Given the description of an element on the screen output the (x, y) to click on. 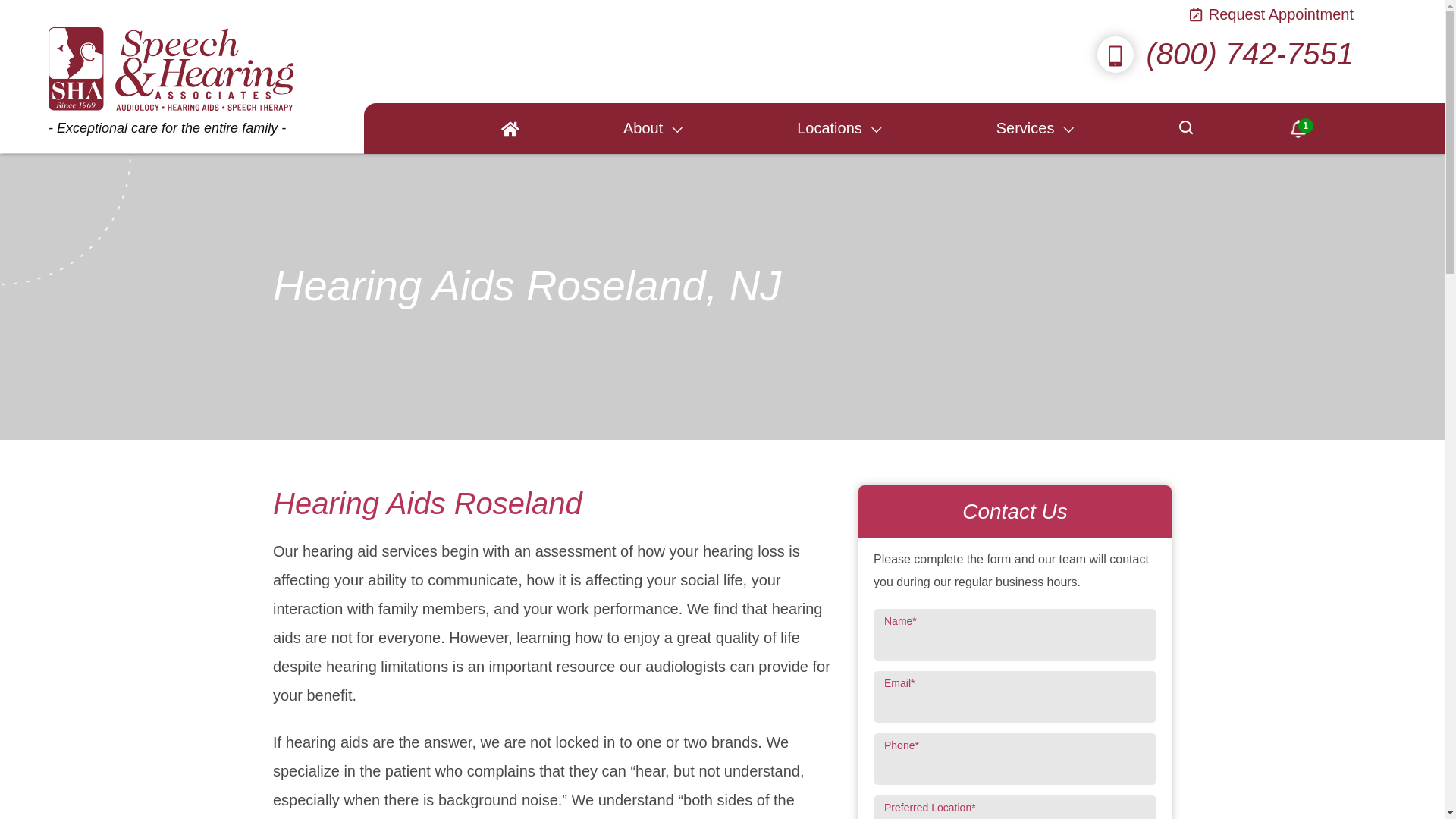
Home (510, 128)
Exceptional care for the entire family (171, 76)
Request Appointment (1272, 14)
